Given the description of an element on the screen output the (x, y) to click on. 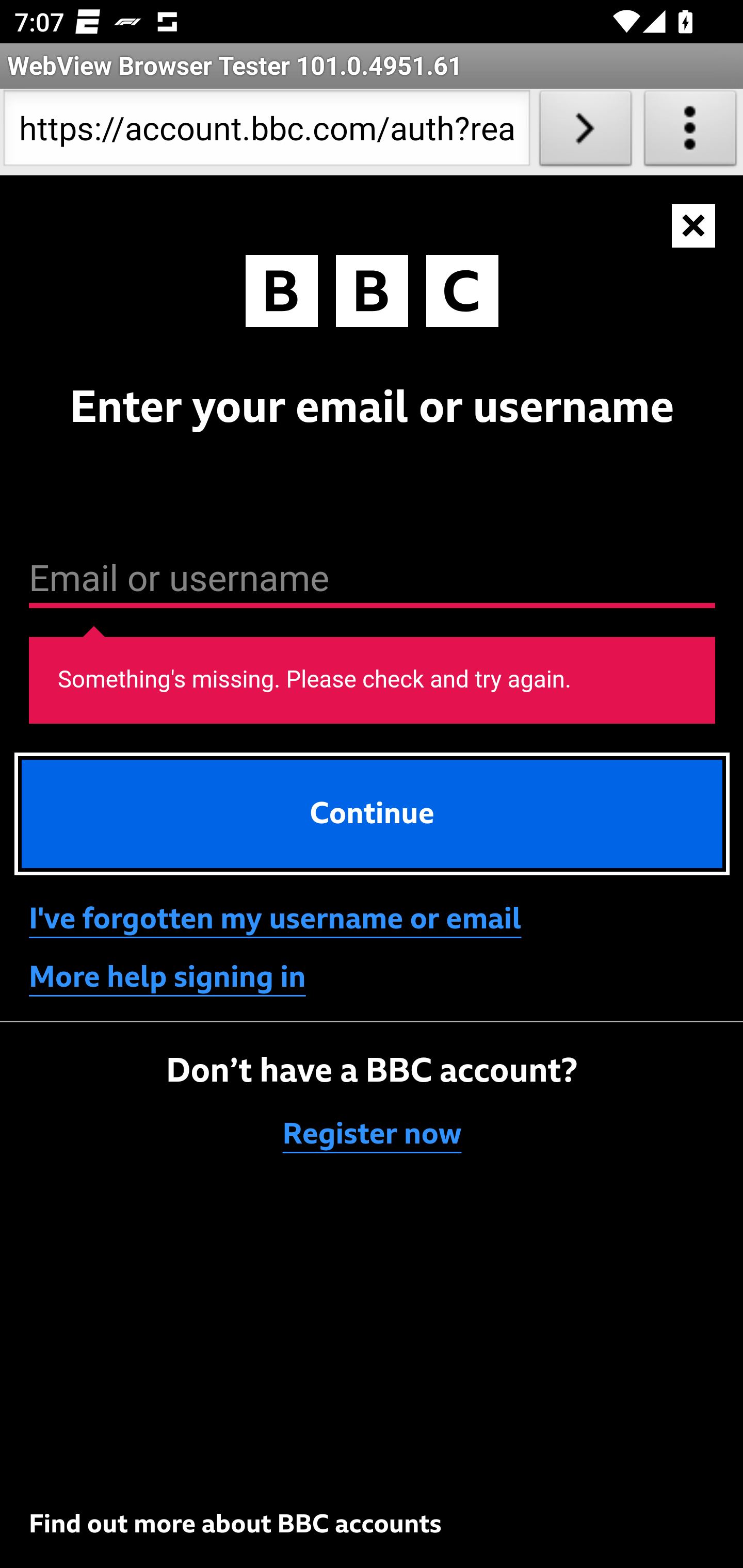
Load URL (585, 132)
About WebView (690, 132)
Close and return to where you originally came from (694, 226)
Go to the BBC Homepage (371, 294)
Continue (372, 812)
I've forgotten my username or email (274, 919)
More help signing in (167, 977)
Register now (372, 1134)
Find out more about BBC accounts (235, 1523)
